Given the description of an element on the screen output the (x, y) to click on. 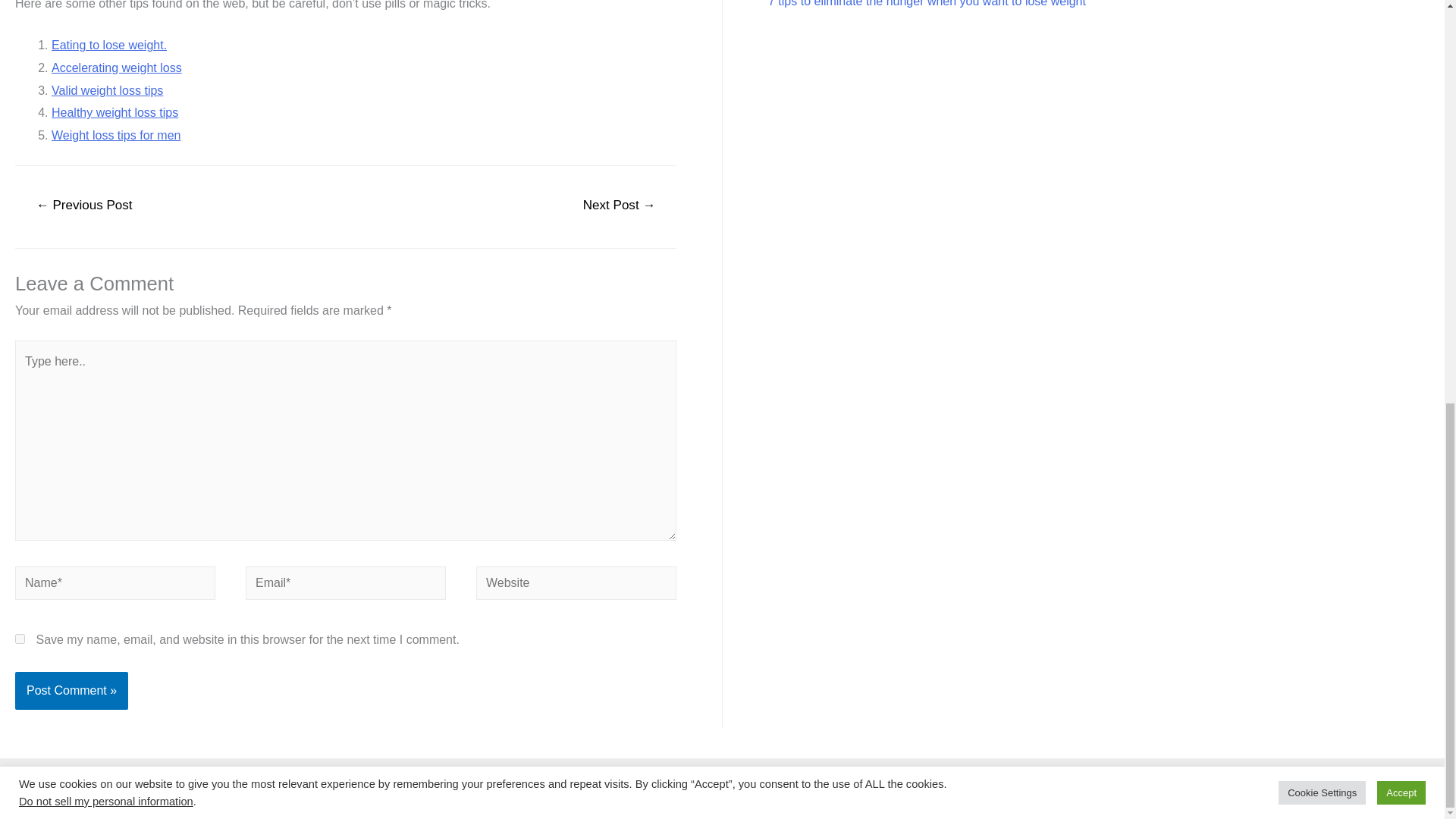
Healthy weight loss tips (113, 112)
Valid weight loss tips (106, 90)
Weight loss tips for men (115, 134)
Accelerating weight loss (116, 67)
yes (19, 638)
Eating to lose weight. (108, 44)
